Given the description of an element on the screen output the (x, y) to click on. 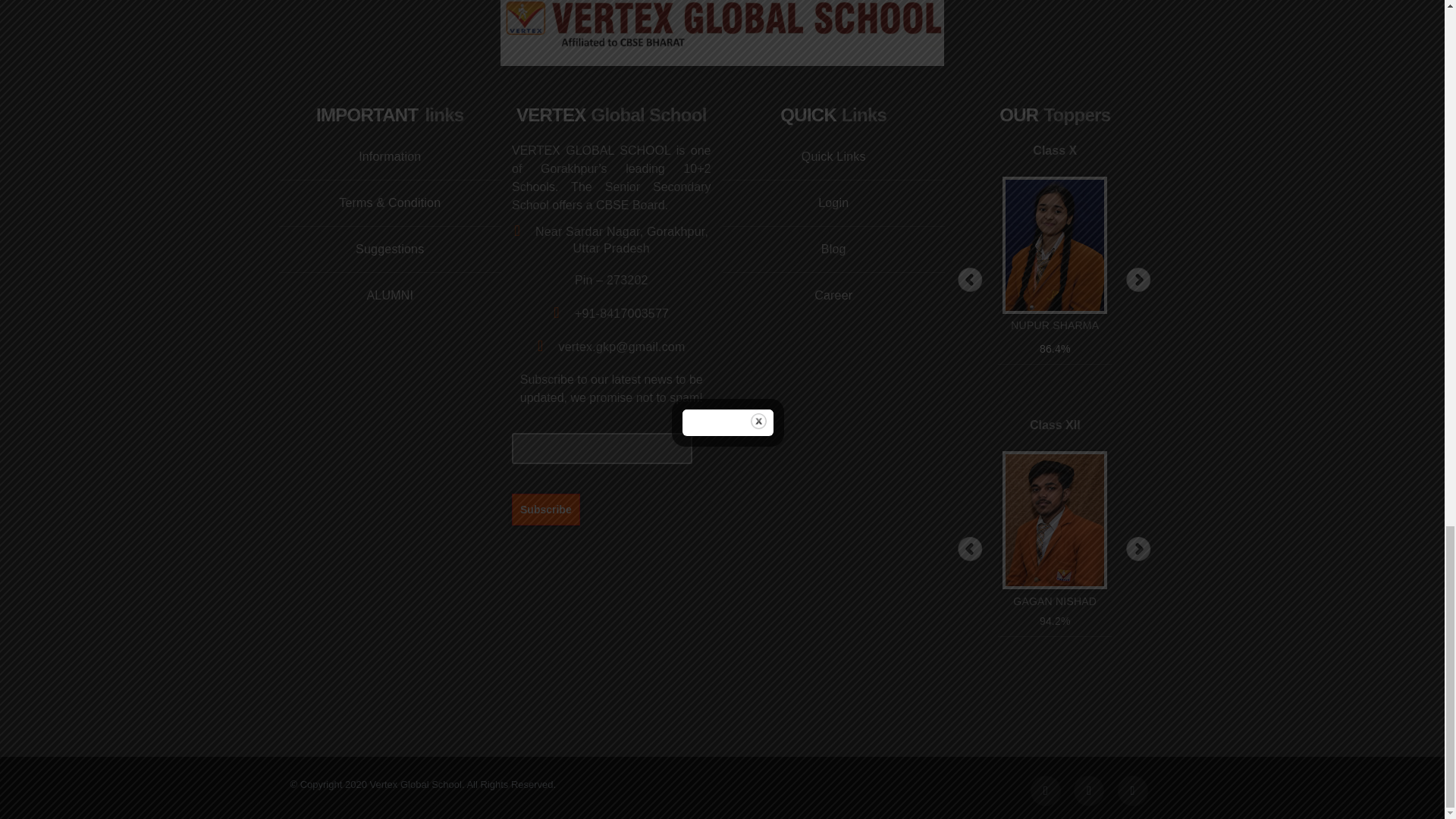
Subscribe (545, 508)
